Given the description of an element on the screen output the (x, y) to click on. 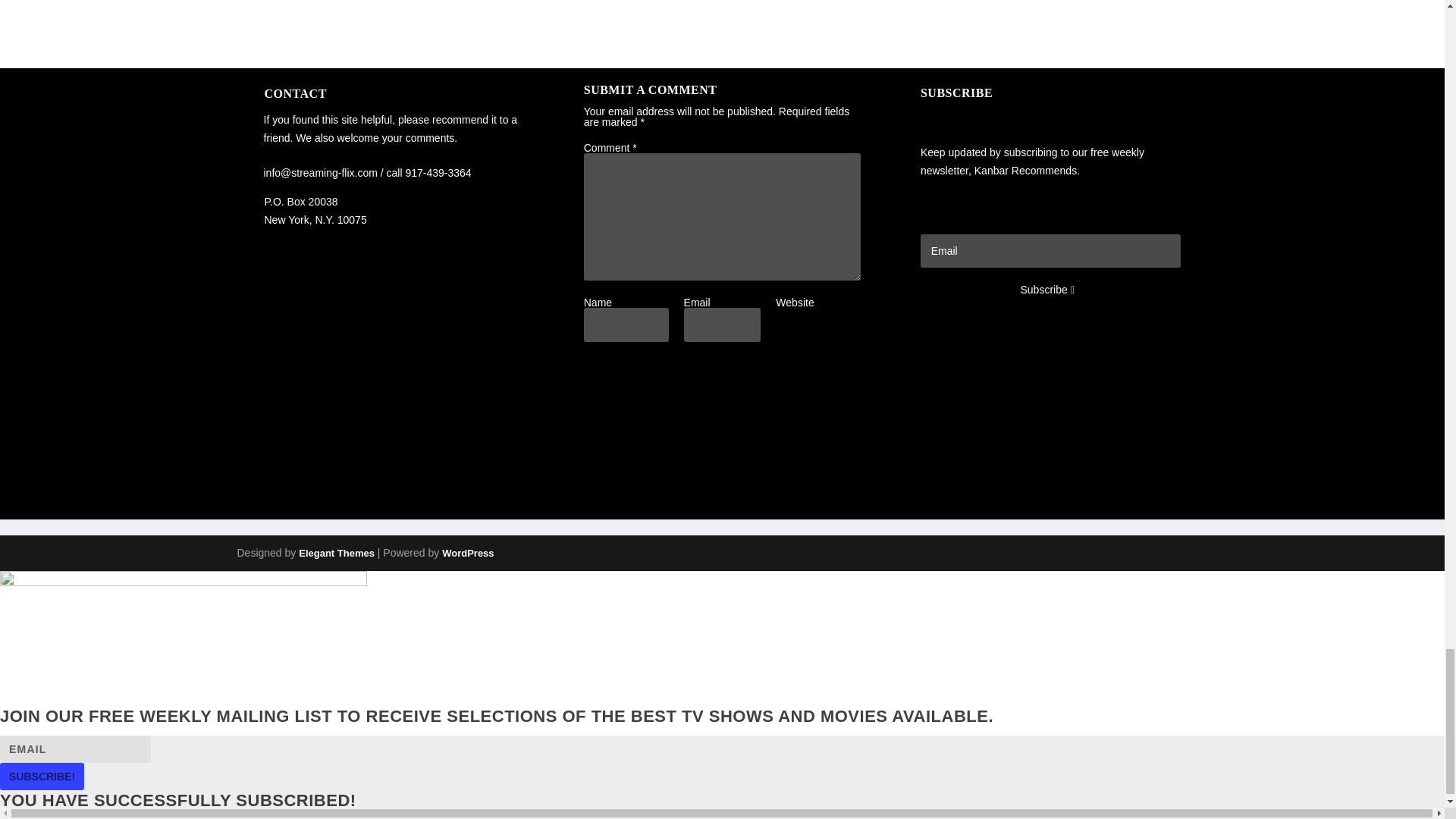
Share "Grand Illusion" via Facebook (702, 451)
Share "Grand Illusion" via Twitter (732, 451)
Share "Grand Illusion" via Print (792, 451)
Share "Grand Illusion" via Email (762, 451)
Premium WordPress Themes (336, 552)
